Given the description of an element on the screen output the (x, y) to click on. 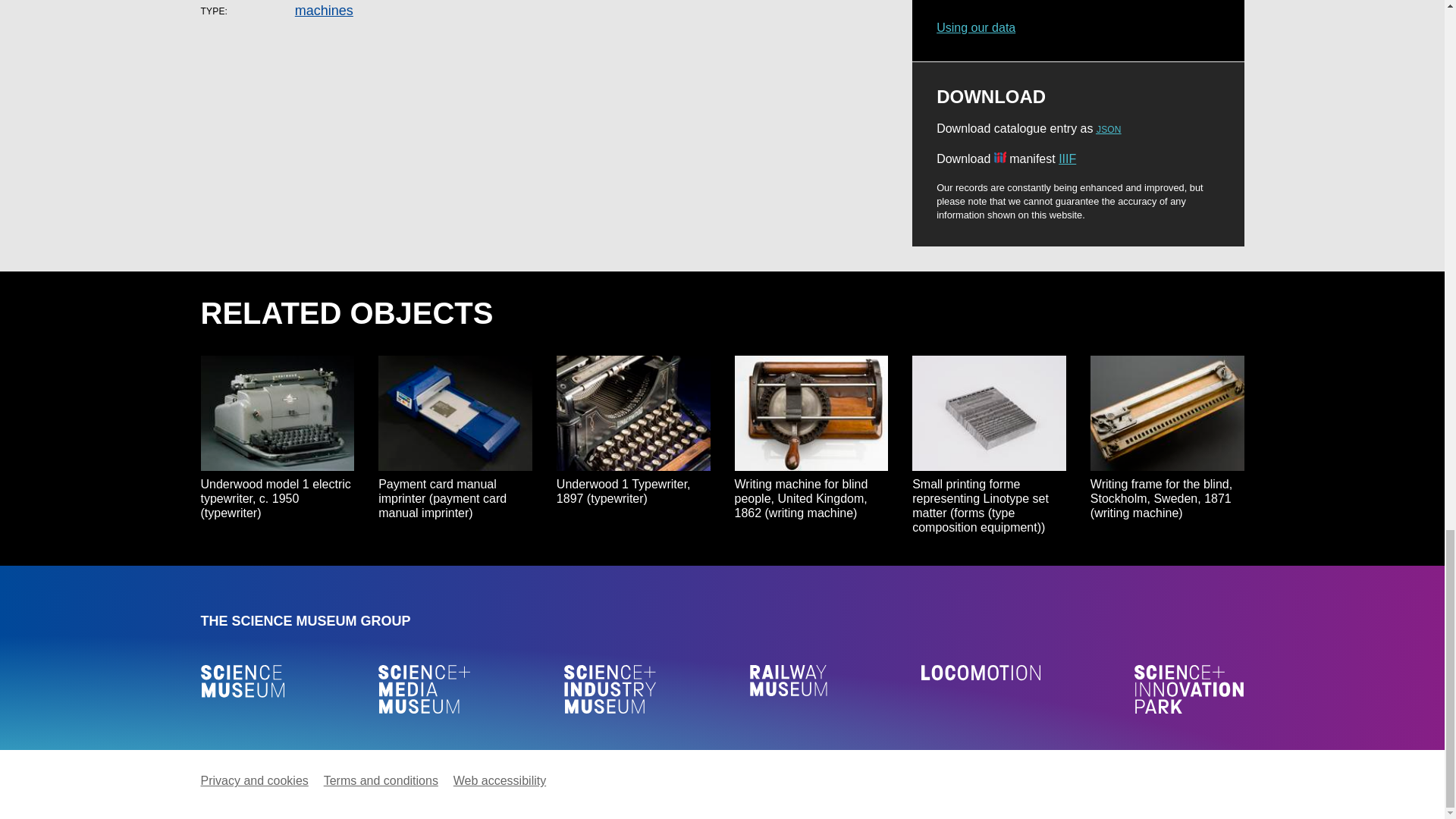
Javascript Object Notation (1108, 129)
